Given the description of an element on the screen output the (x, y) to click on. 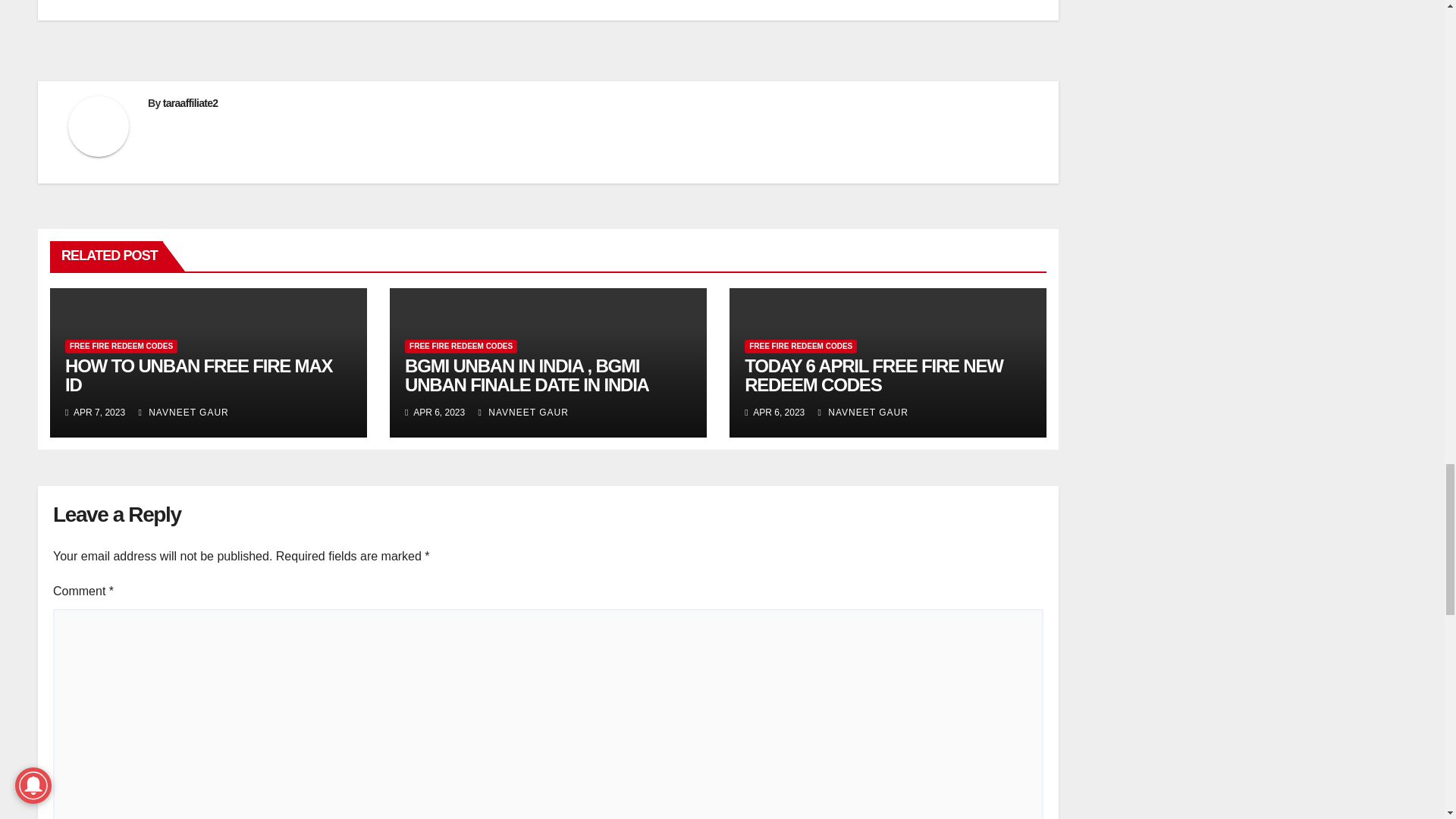
taraaffiliate2 (190, 102)
FREE FIRE REDEEM CODES (121, 345)
